Given the description of an element on the screen output the (x, y) to click on. 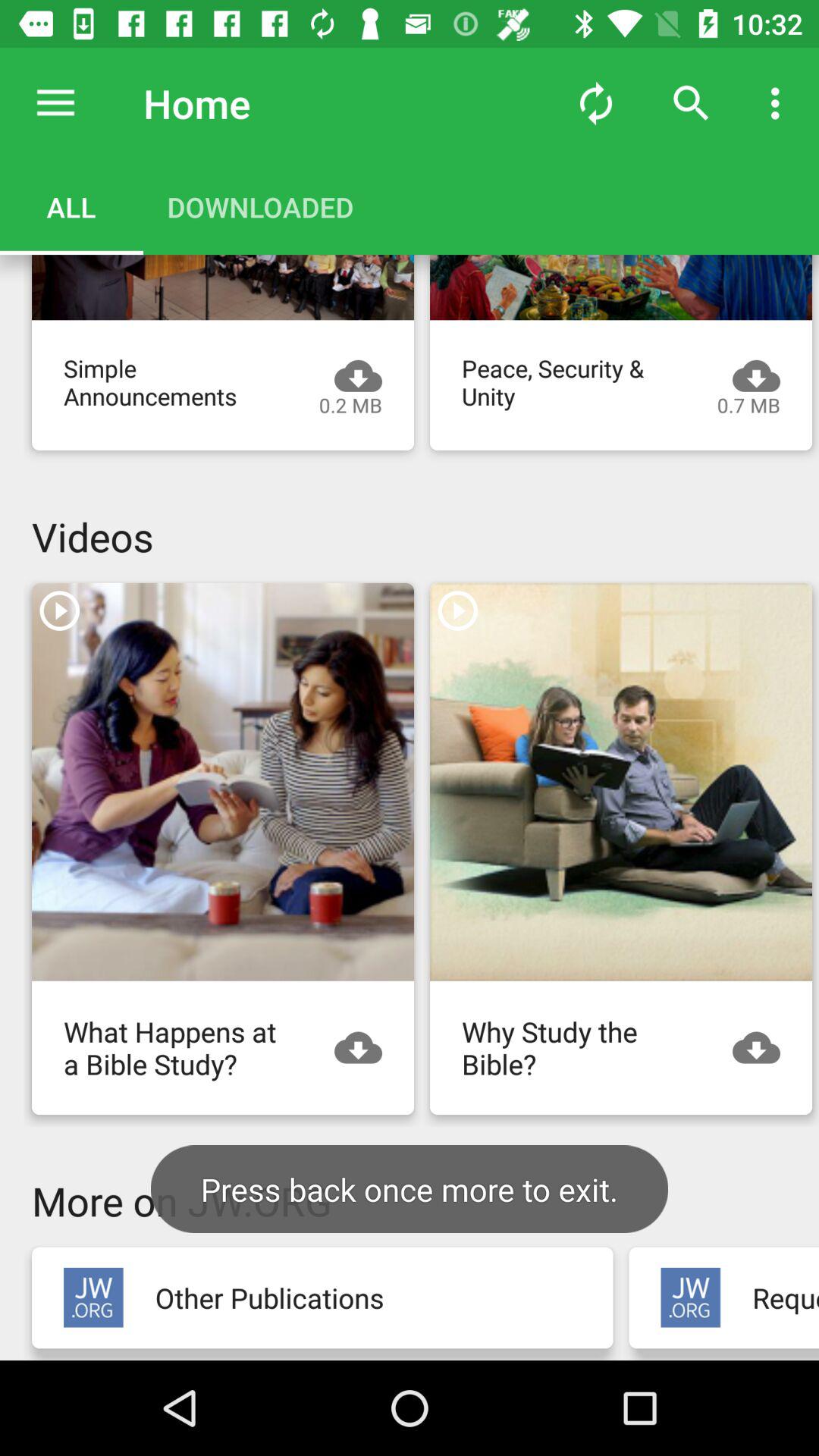
video (620, 287)
